Given the description of an element on the screen output the (x, y) to click on. 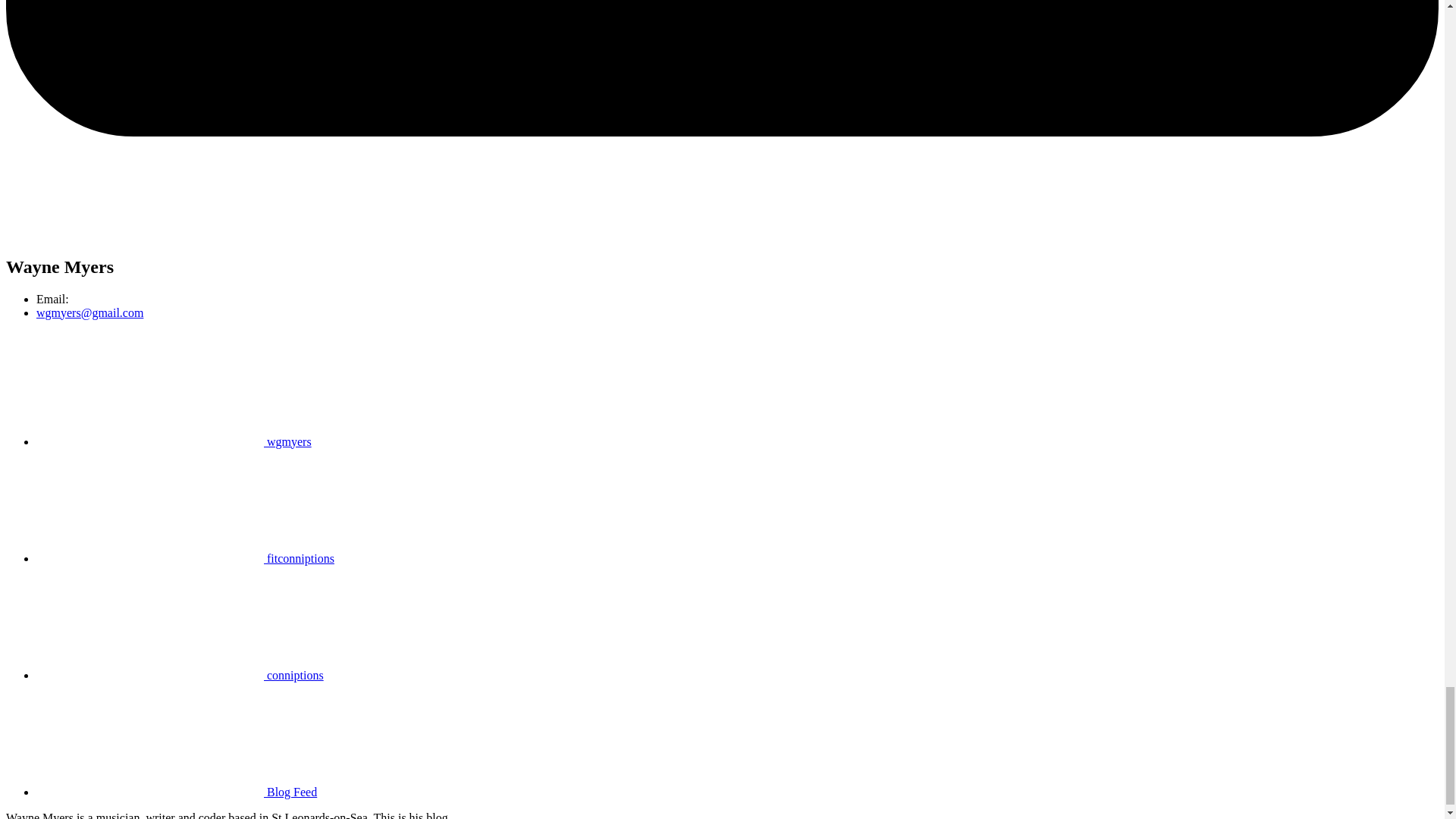
conniptions (179, 675)
fitconniptions (185, 558)
wgmyers (173, 440)
Blog Feed (176, 791)
